Given the description of an element on the screen output the (x, y) to click on. 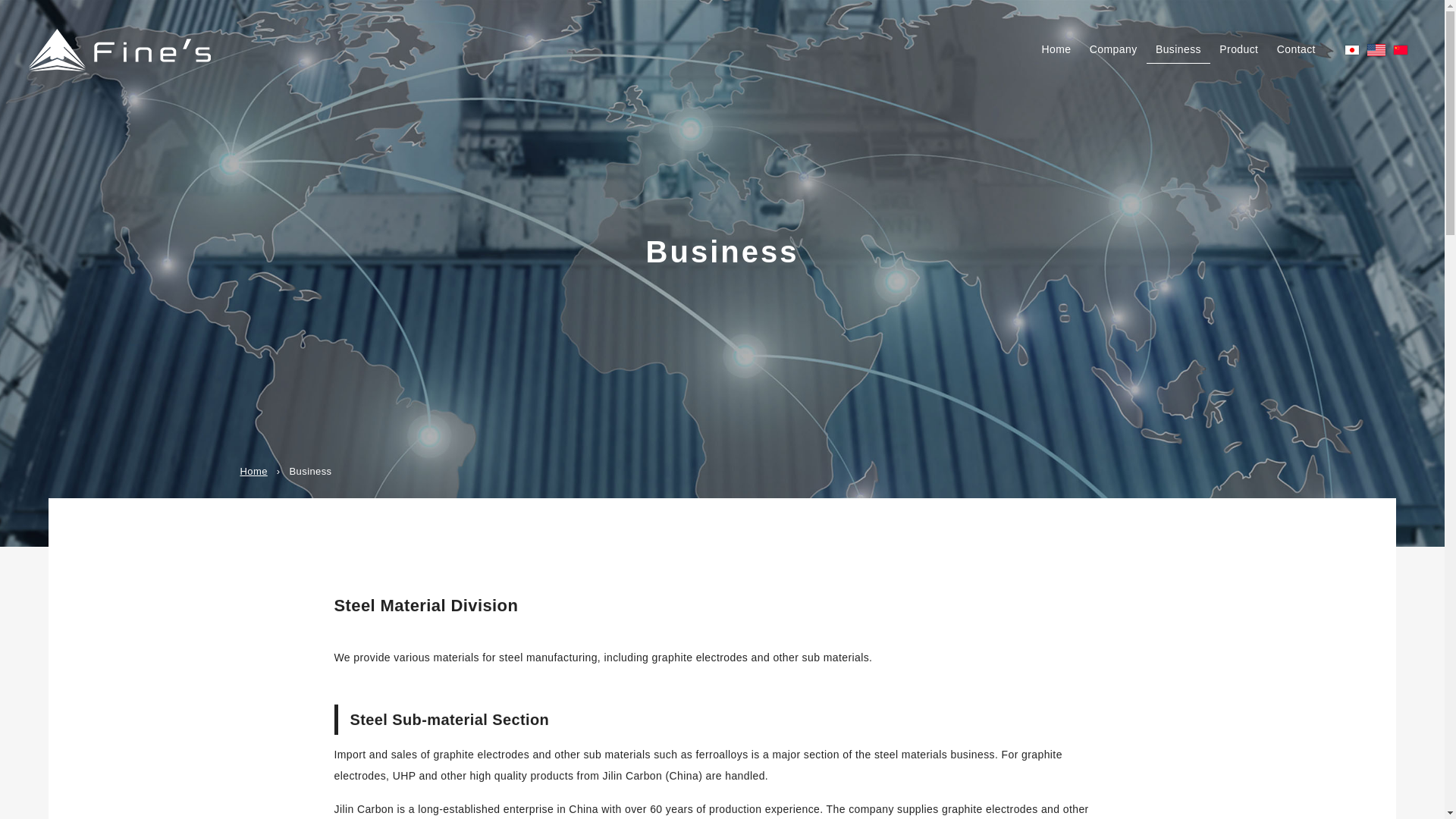
Eng (1376, 50)
Contact (1296, 49)
Eng (1376, 50)
Home (1056, 49)
Product (1237, 49)
Home (253, 471)
Company (1113, 49)
Chinese (1402, 51)
Business (1178, 49)
Japanese (1353, 51)
Fine's Co., Ltd (120, 49)
